Given the description of an element on the screen output the (x, y) to click on. 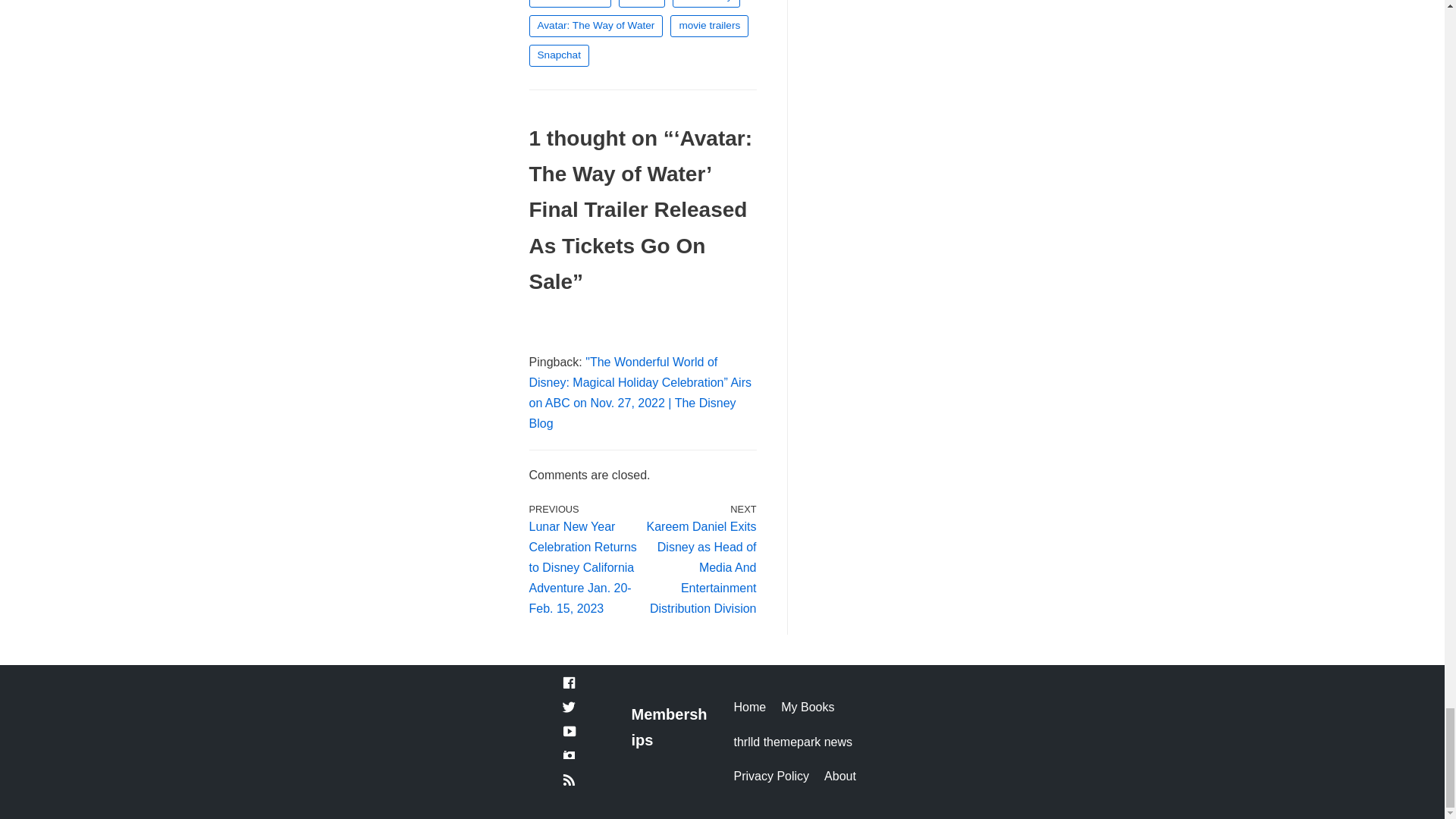
Avatar: The Way of Water (596, 25)
Avatar (641, 3)
Avatar Day (705, 3)
Amazon Alexa (570, 3)
movie trailers (708, 25)
